Given the description of an element on the screen output the (x, y) to click on. 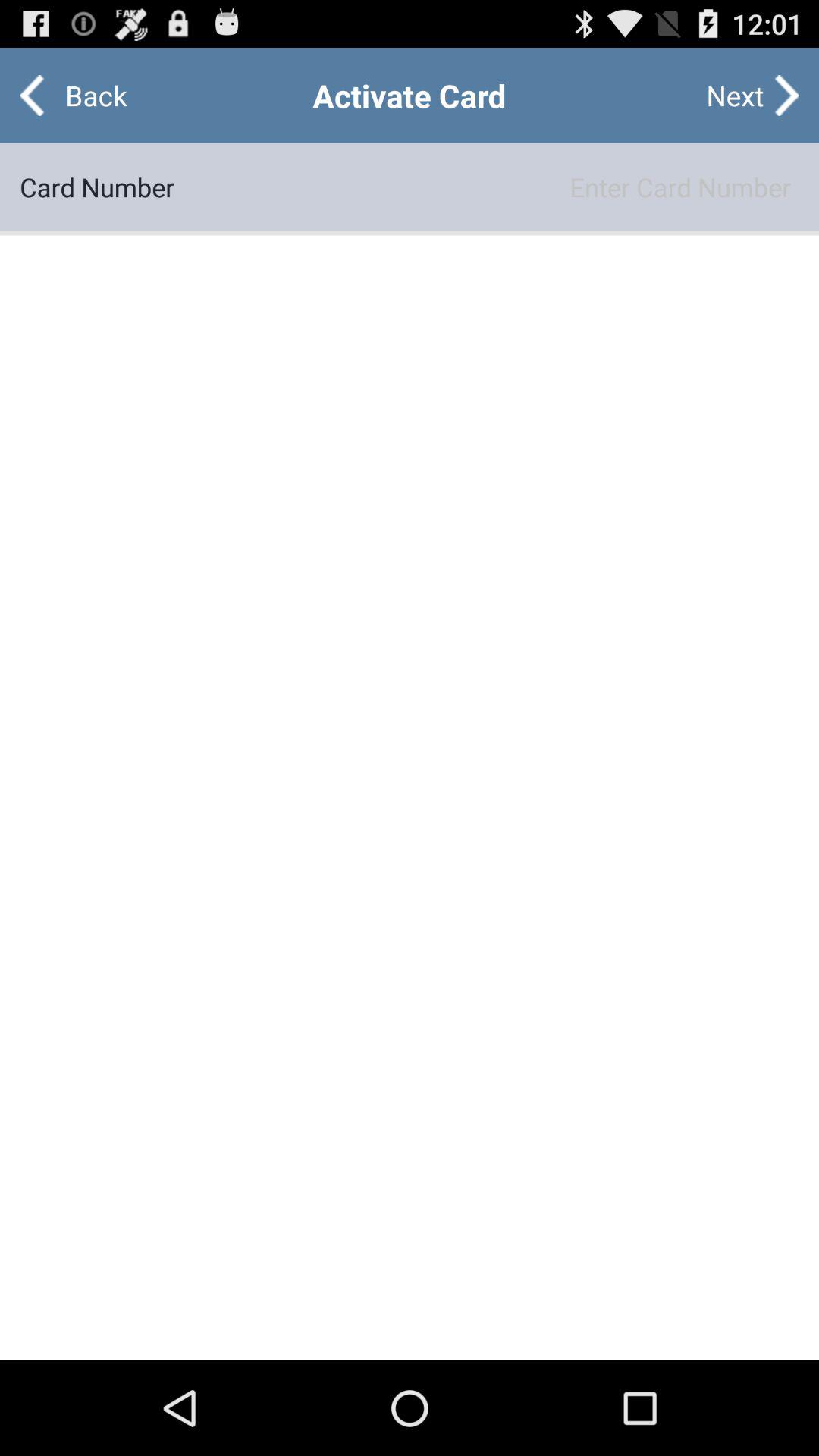
tap the back icon (83, 95)
